Given the description of an element on the screen output the (x, y) to click on. 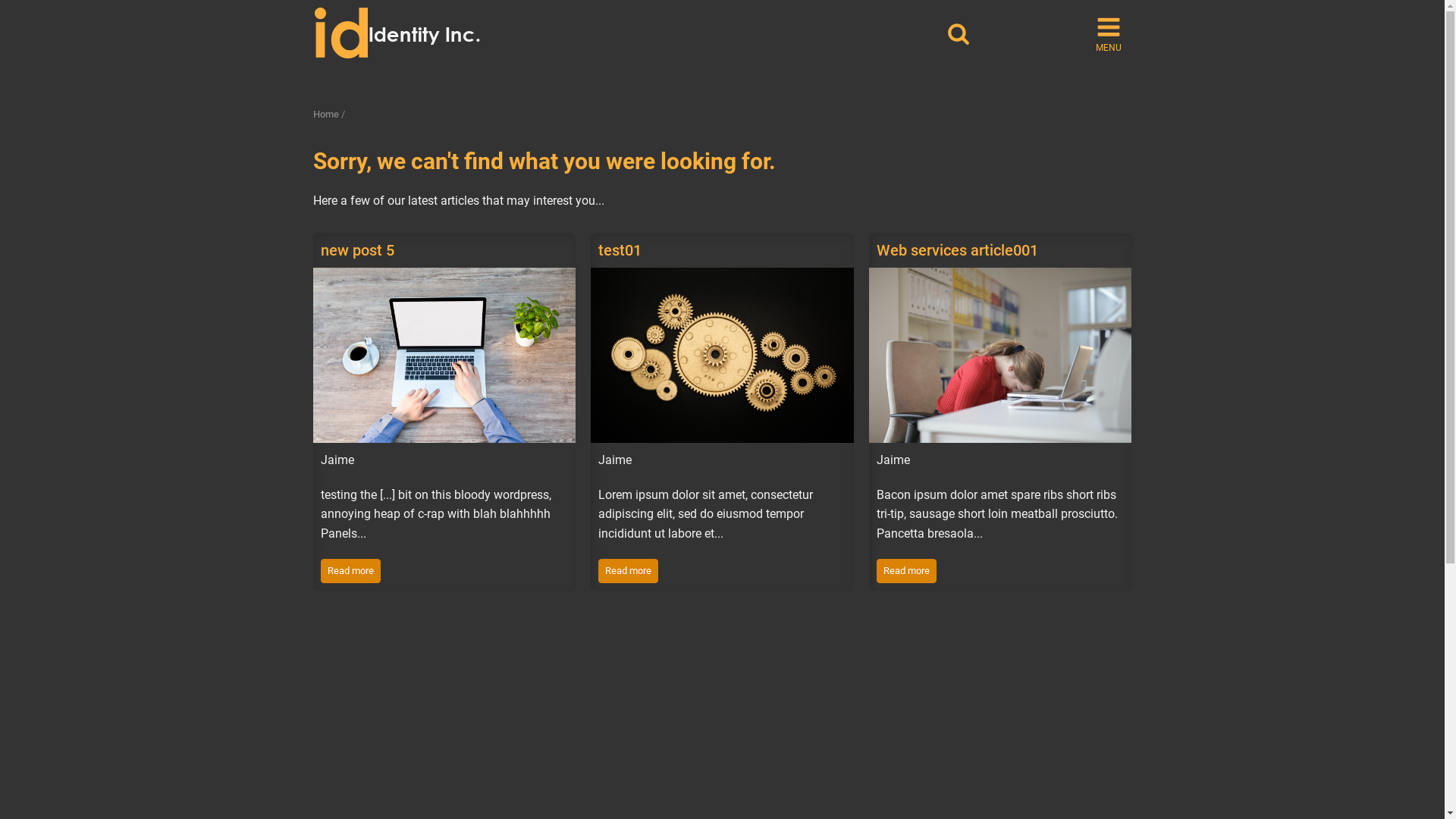
new post 5 Element type: text (356, 250)
Read more Element type: text (906, 570)
test01 Element type: text (619, 250)
Read more Element type: text (349, 570)
Web services article001 Element type: text (957, 250)
Read more Element type: text (628, 570)
Home Element type: text (325, 113)
Search Element type: text (1046, 68)
